Given the description of an element on the screen output the (x, y) to click on. 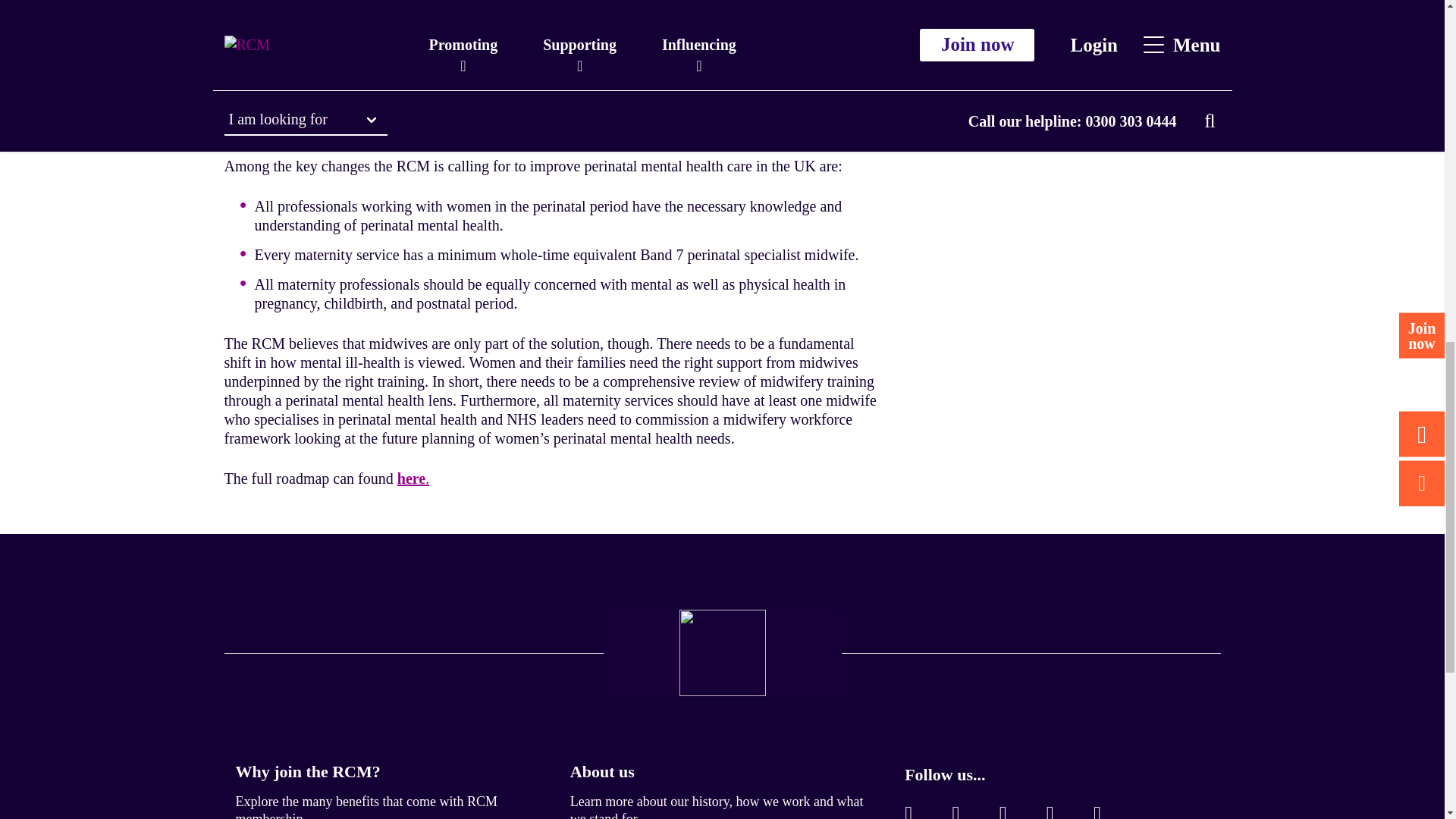
Why join the RCM? (307, 771)
About us (602, 771)
